Given the description of an element on the screen output the (x, y) to click on. 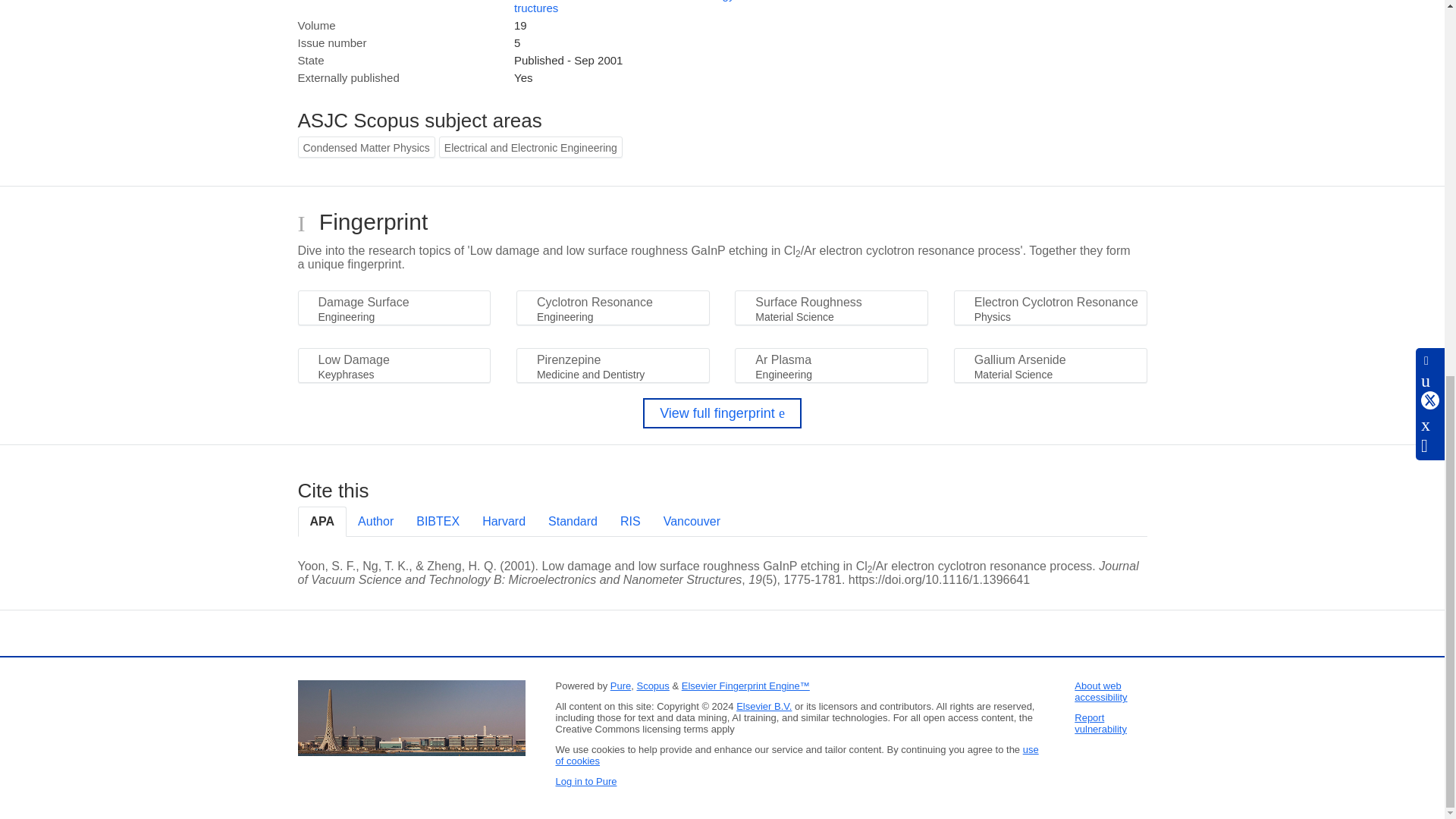
Pure (620, 685)
Elsevier B.V. (764, 706)
Scopus (652, 685)
View full fingerprint (722, 413)
